Given the description of an element on the screen output the (x, y) to click on. 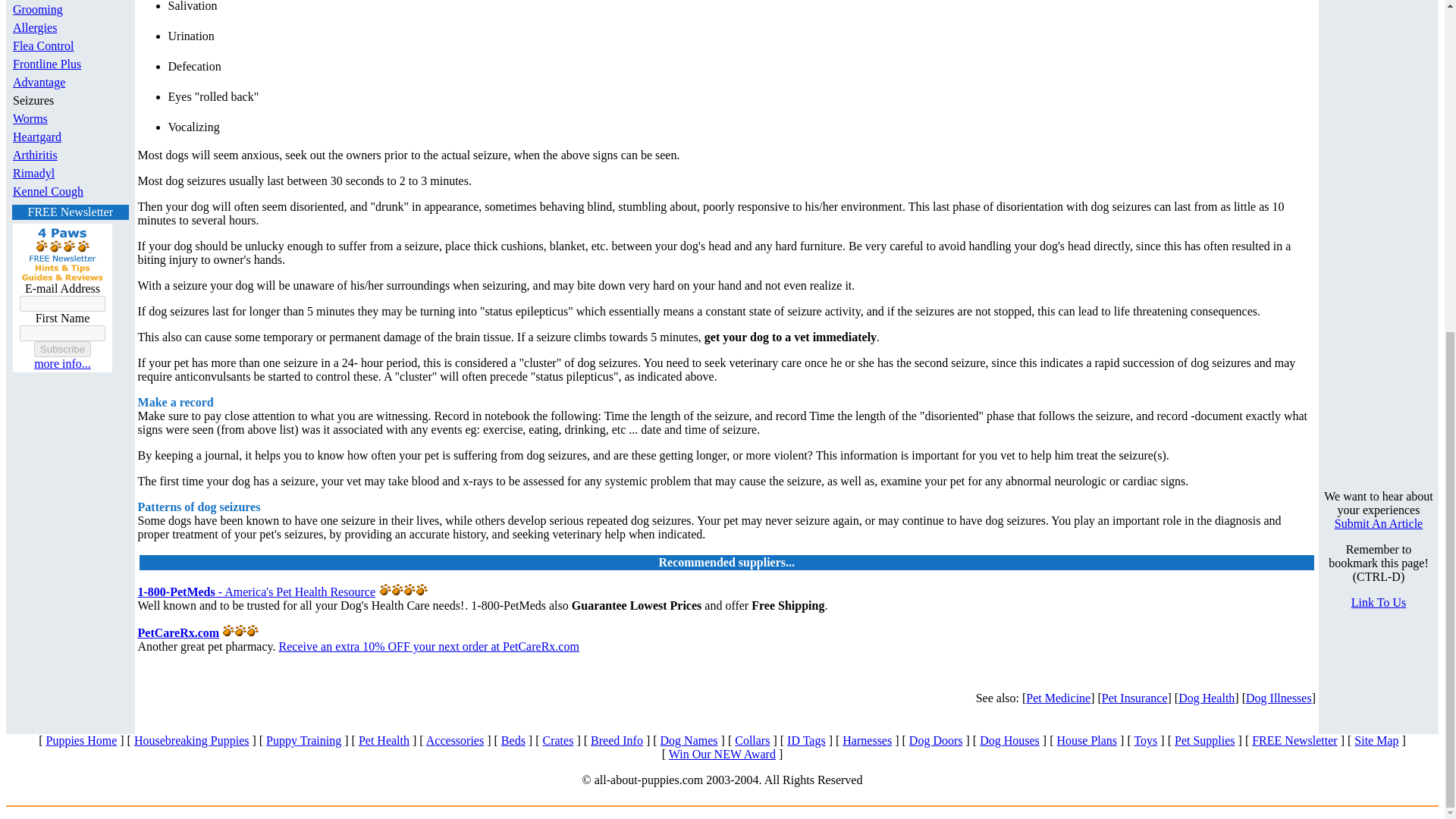
Subscribe (61, 349)
Grooming (37, 9)
Allergies (34, 27)
Advertisement (1369, 233)
Advantage (39, 82)
Kennel Cough (47, 191)
Arthiritis (35, 154)
Heartgard (37, 136)
1-800-PetMeds - America's Pet Health Resource (256, 591)
Worms (30, 118)
Pet Medicine (1058, 697)
Flea Control (43, 45)
Frontline Plus (47, 63)
Rimadyl (34, 173)
PetCareRx.com (178, 632)
